Given the description of an element on the screen output the (x, y) to click on. 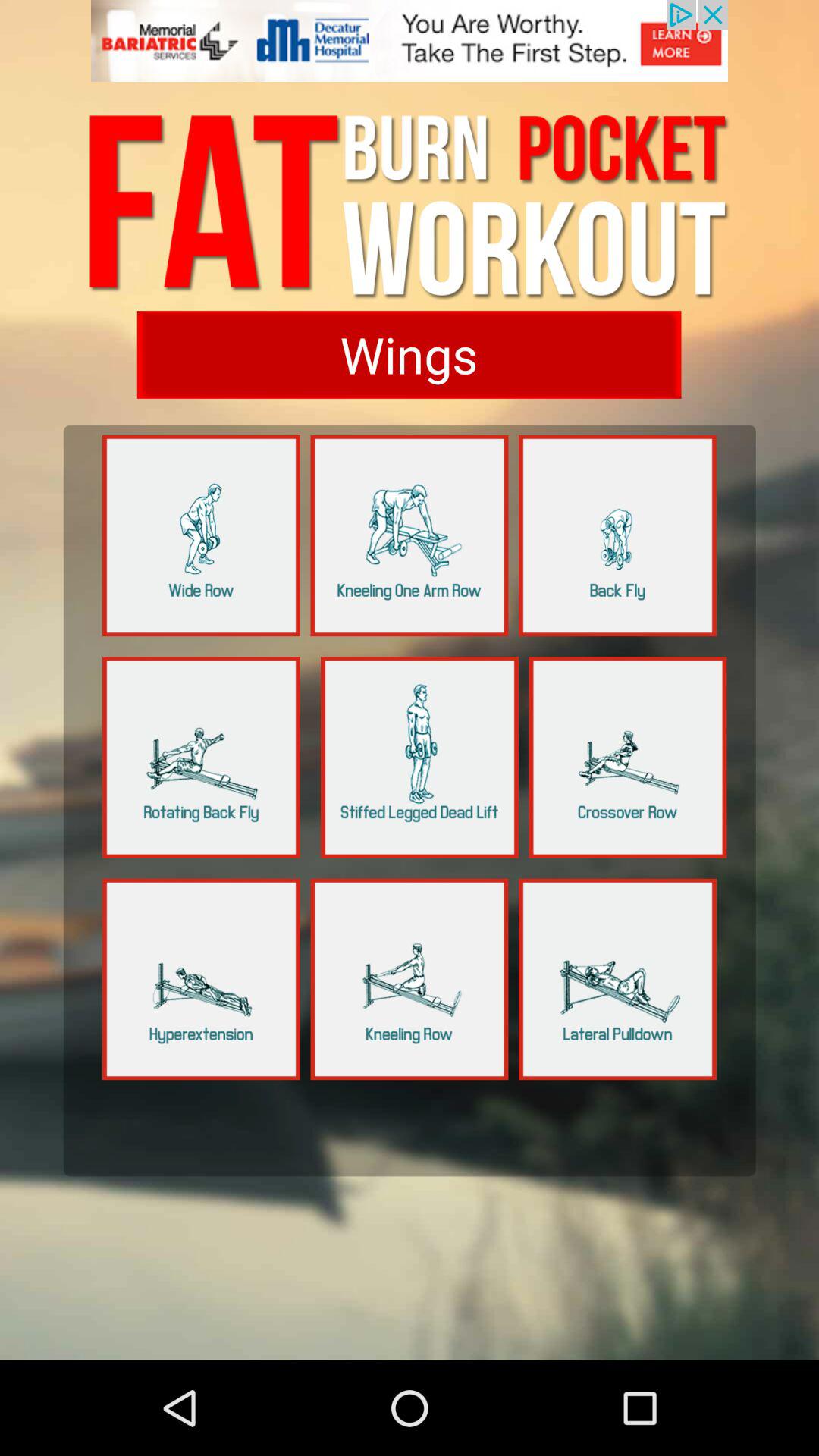
crossover row (627, 757)
